Given the description of an element on the screen output the (x, y) to click on. 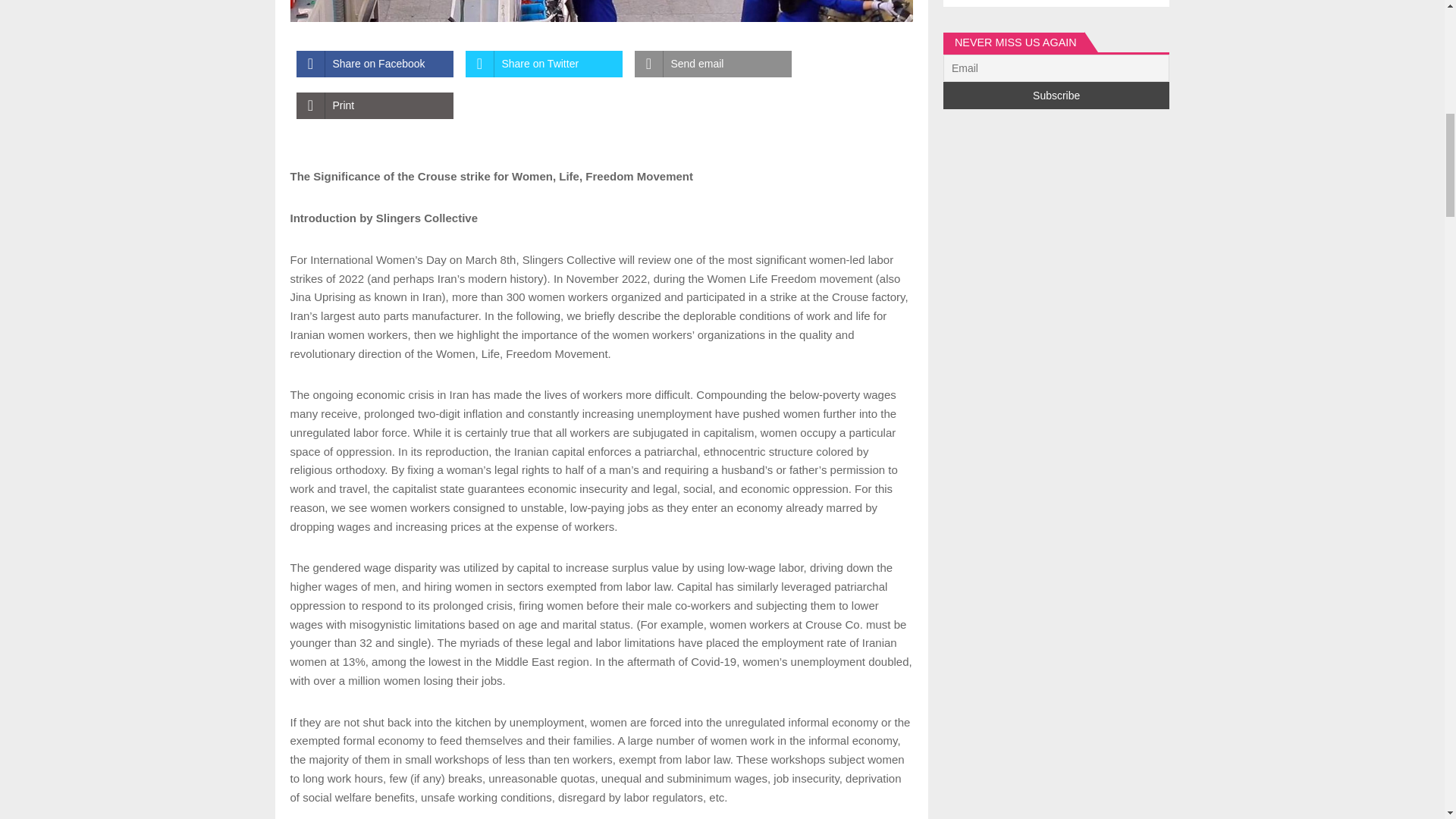
Subscribe (1056, 94)
Share it on Email (711, 63)
Share on Facebook (373, 63)
Print (373, 105)
Share on Twitter (544, 63)
